Given the description of an element on the screen output the (x, y) to click on. 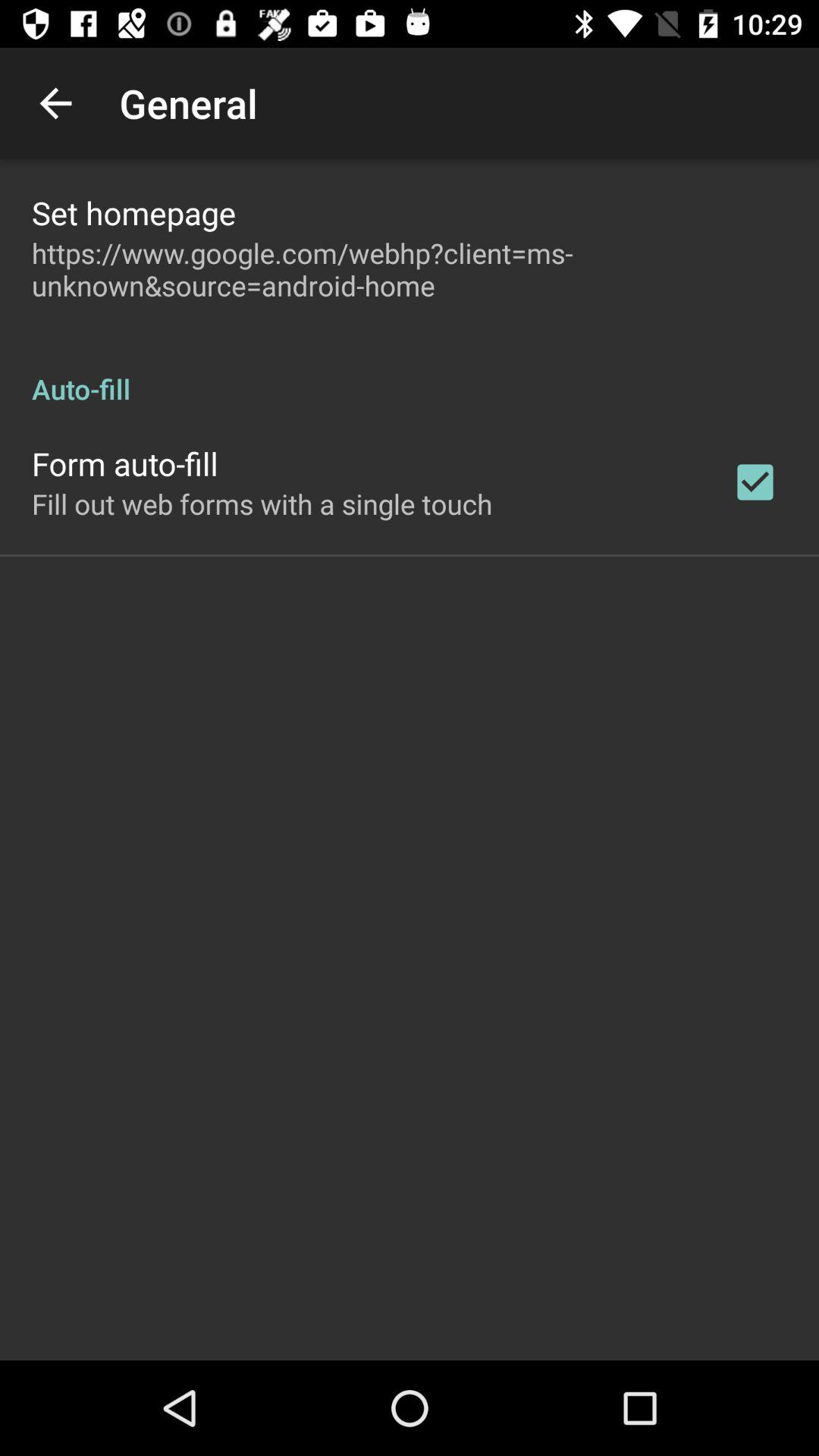
open the app to the right of the fill out web (755, 482)
